Given the description of an element on the screen output the (x, y) to click on. 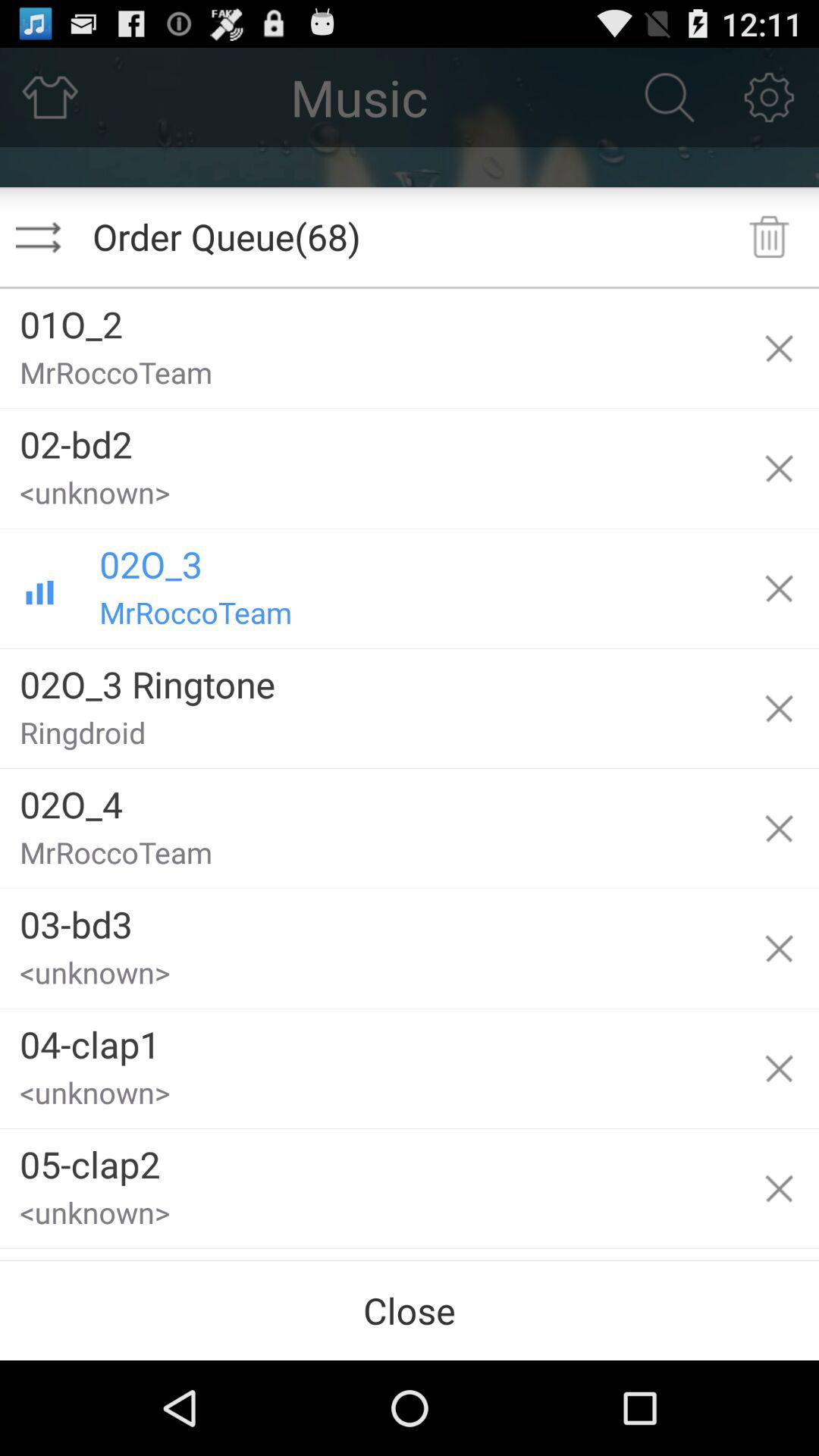
press the app below the <unknown> (369, 1158)
